Given the description of an element on the screen output the (x, y) to click on. 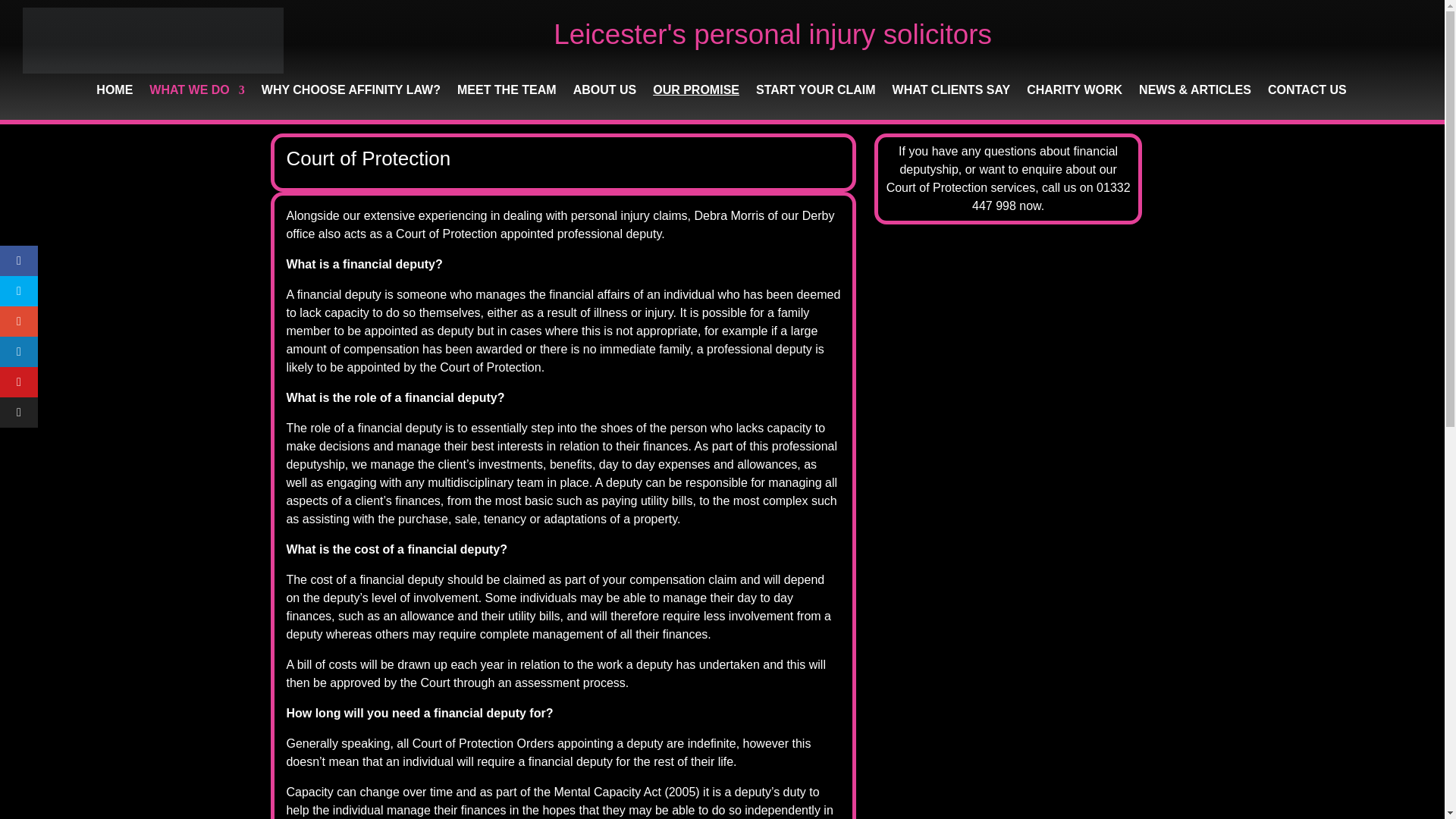
WHAT WE DO (196, 102)
CONTACT US (1307, 102)
MEET THE TEAM (506, 102)
WHY CHOOSE AFFINITY LAW? (351, 102)
HOME (114, 102)
CHARITY WORK (1074, 102)
OUR PROMISE (695, 102)
ABOUT US (605, 102)
START YOUR CLAIM (815, 102)
